Given the description of an element on the screen output the (x, y) to click on. 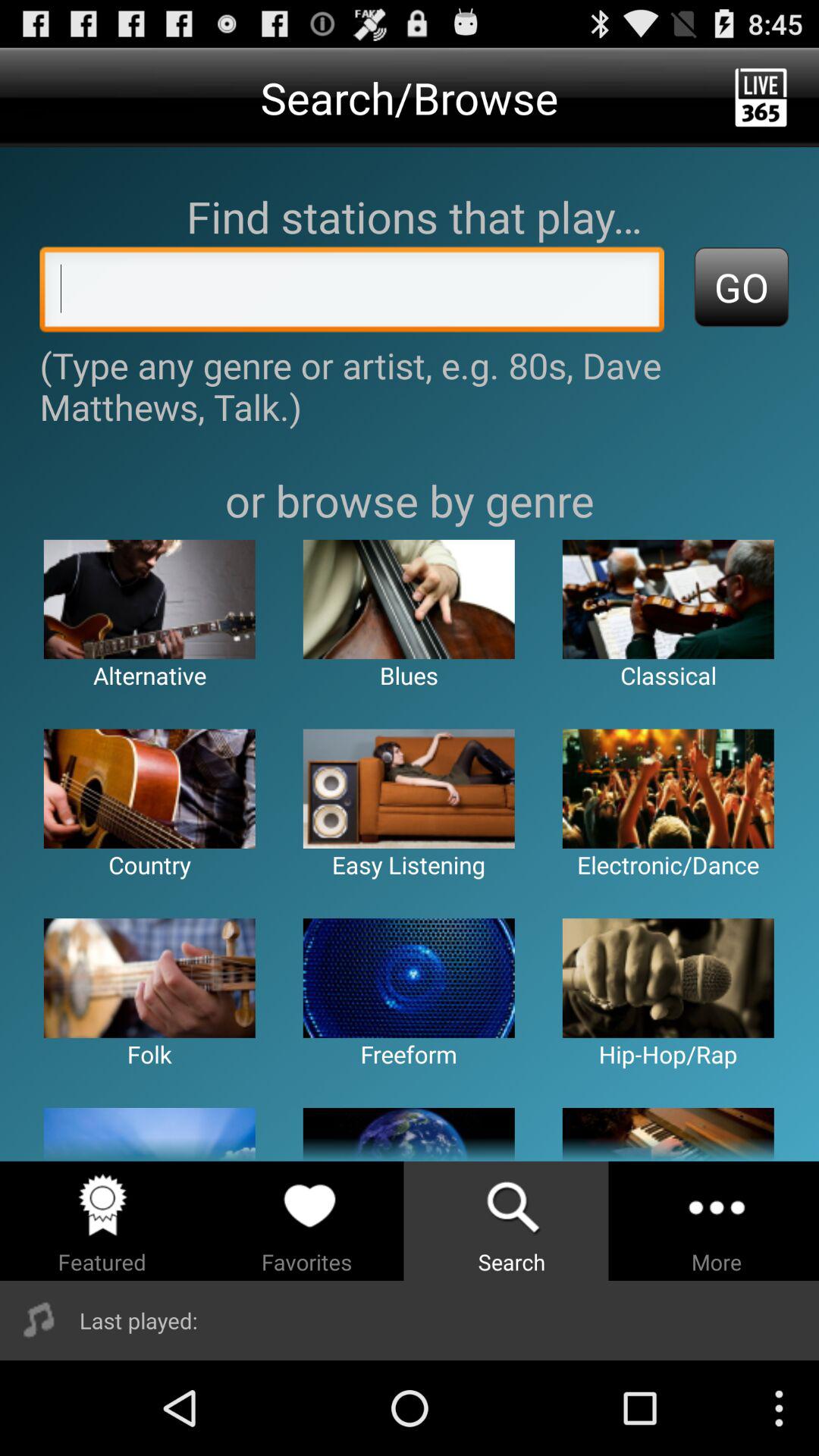
find a station to play (351, 293)
